Given the description of an element on the screen output the (x, y) to click on. 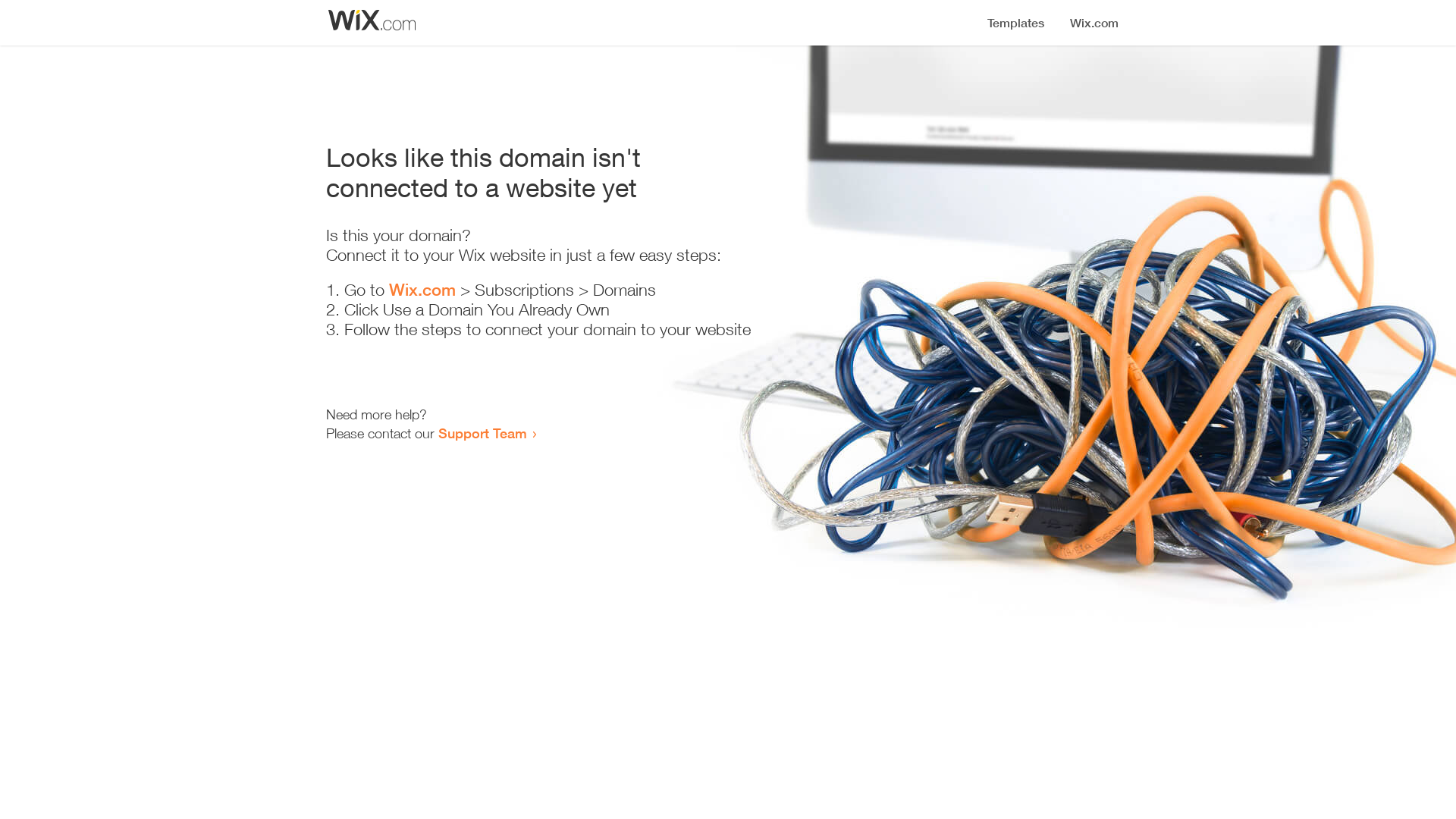
Wix.com Element type: text (422, 289)
Support Team Element type: text (482, 432)
